Given the description of an element on the screen output the (x, y) to click on. 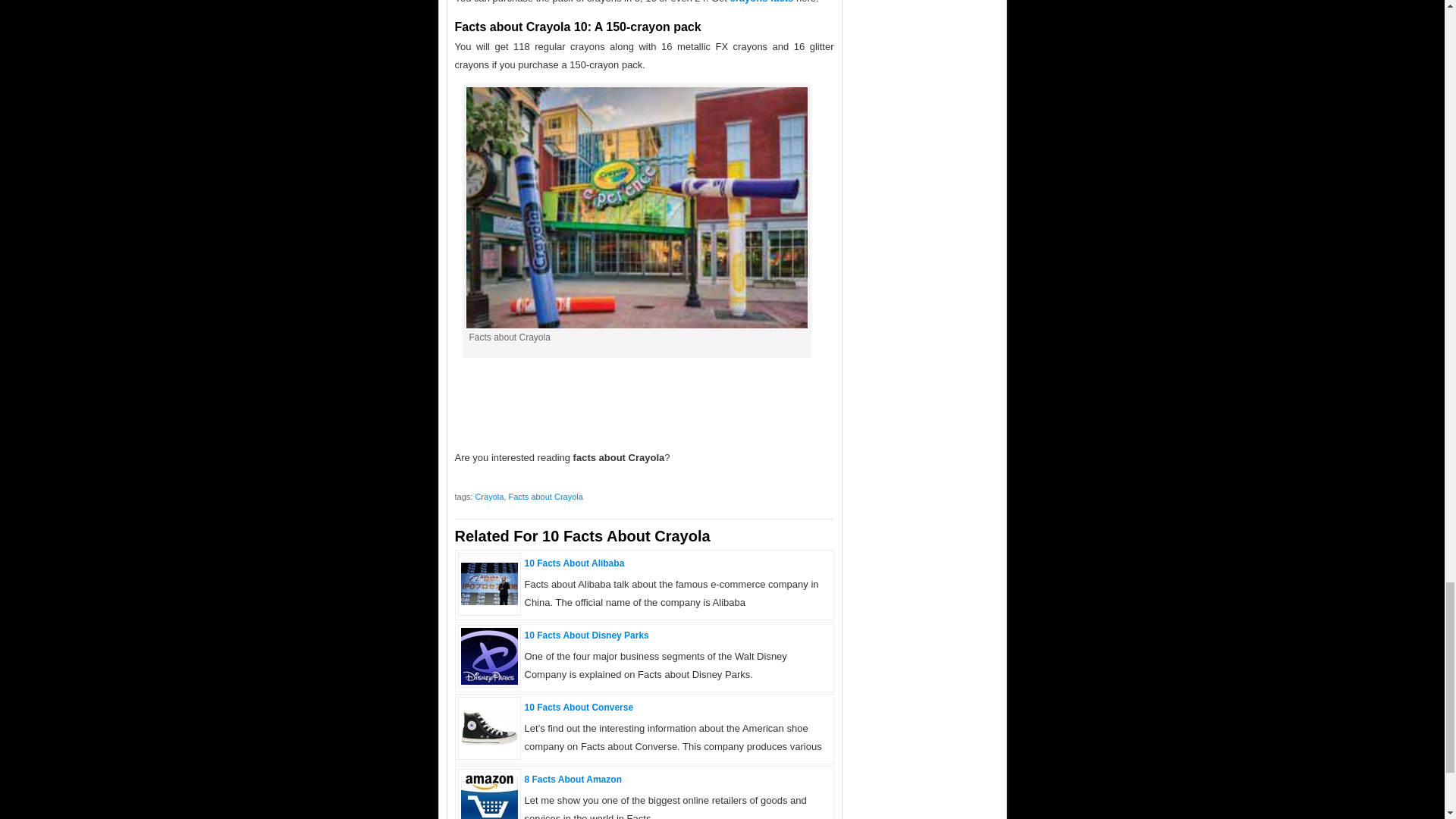
8 Facts About Amazon (572, 778)
8 Facts about Amazon (572, 778)
10 Facts About Disney Parks (586, 634)
Advertisement (644, 403)
Facts about Crayola (545, 496)
10 Facts about Disney Parks (586, 634)
Crayola (488, 496)
10 Facts About Alibaba (574, 562)
10 Facts about Converse (578, 706)
crayons facts (761, 2)
10 Facts about Alibaba (489, 601)
10 Facts about Alibaba (574, 562)
10 Facts about Converse (489, 742)
10 Facts about Disney Parks (489, 681)
10 Facts About Converse (578, 706)
